Given the description of an element on the screen output the (x, y) to click on. 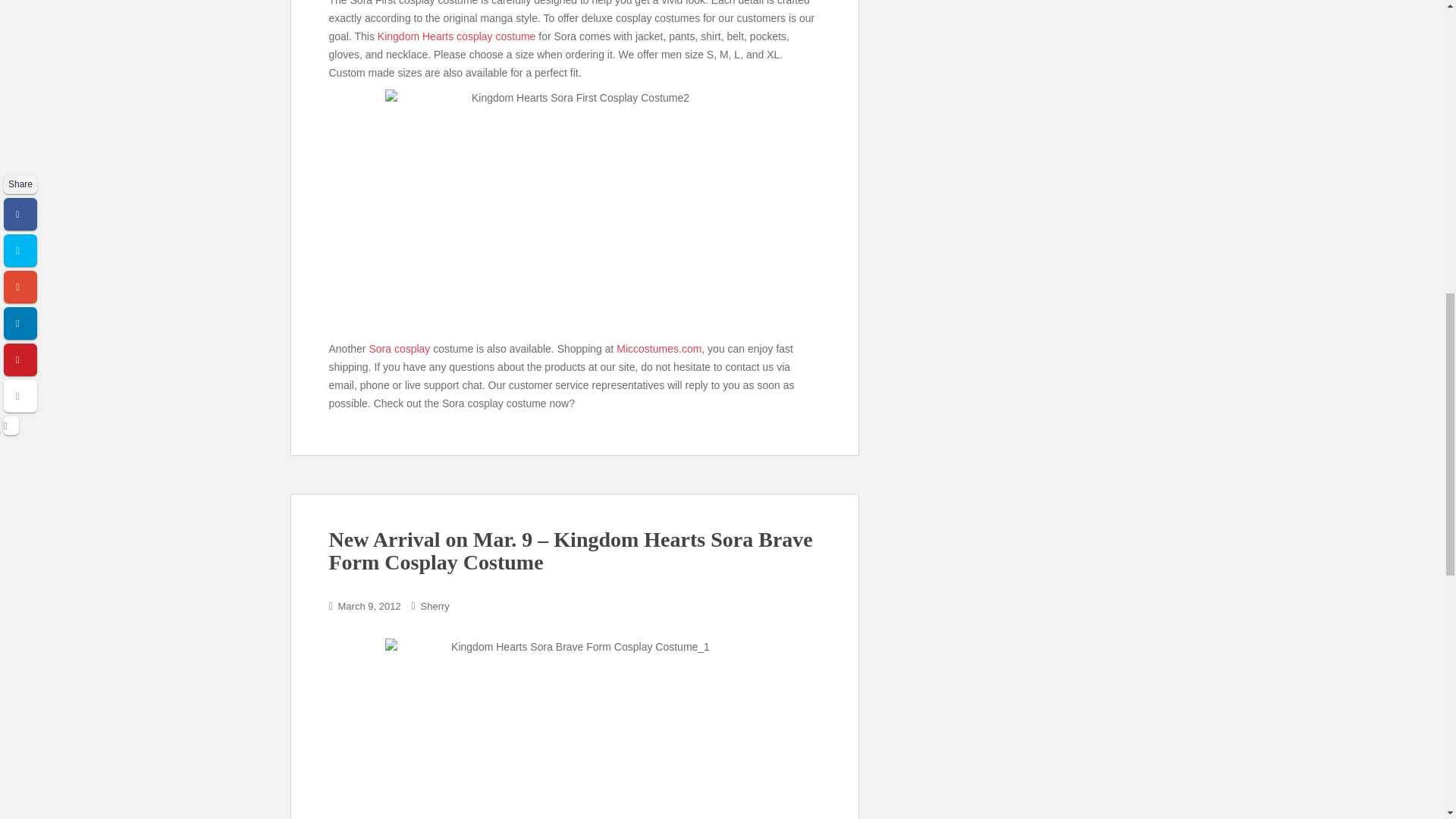
Kingdom Hearts cosplay costume (457, 36)
Sherry (434, 605)
Miccostumes.com (658, 348)
Sora cosplay (398, 348)
March 9, 2012 (369, 605)
